Given the description of an element on the screen output the (x, y) to click on. 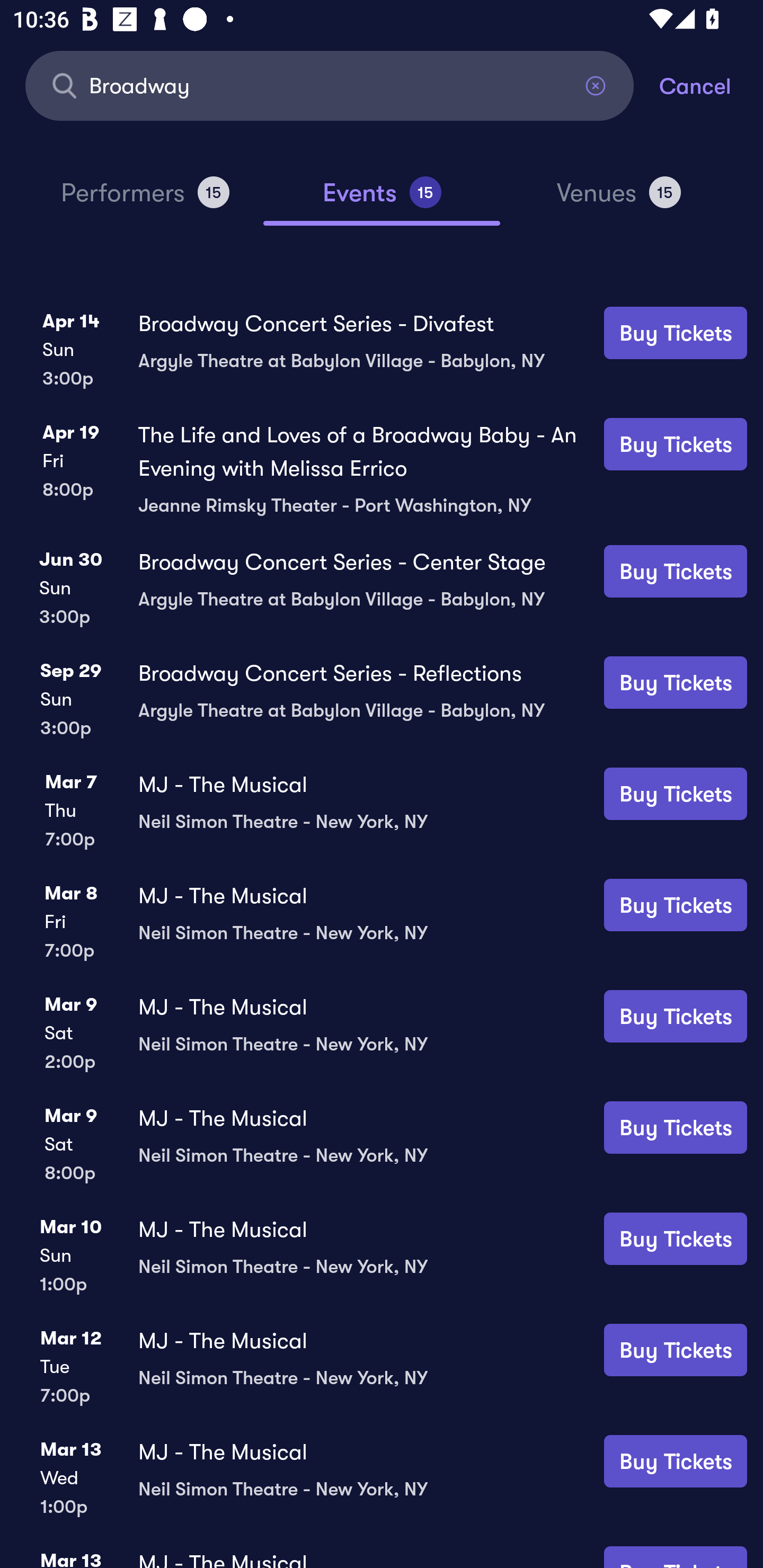
Broadway Find (329, 85)
Broadway Find (329, 85)
Cancel (711, 85)
Performers 15 (144, 200)
Events 15 (381, 200)
Venues 15 (618, 200)
